Given the description of an element on the screen output the (x, y) to click on. 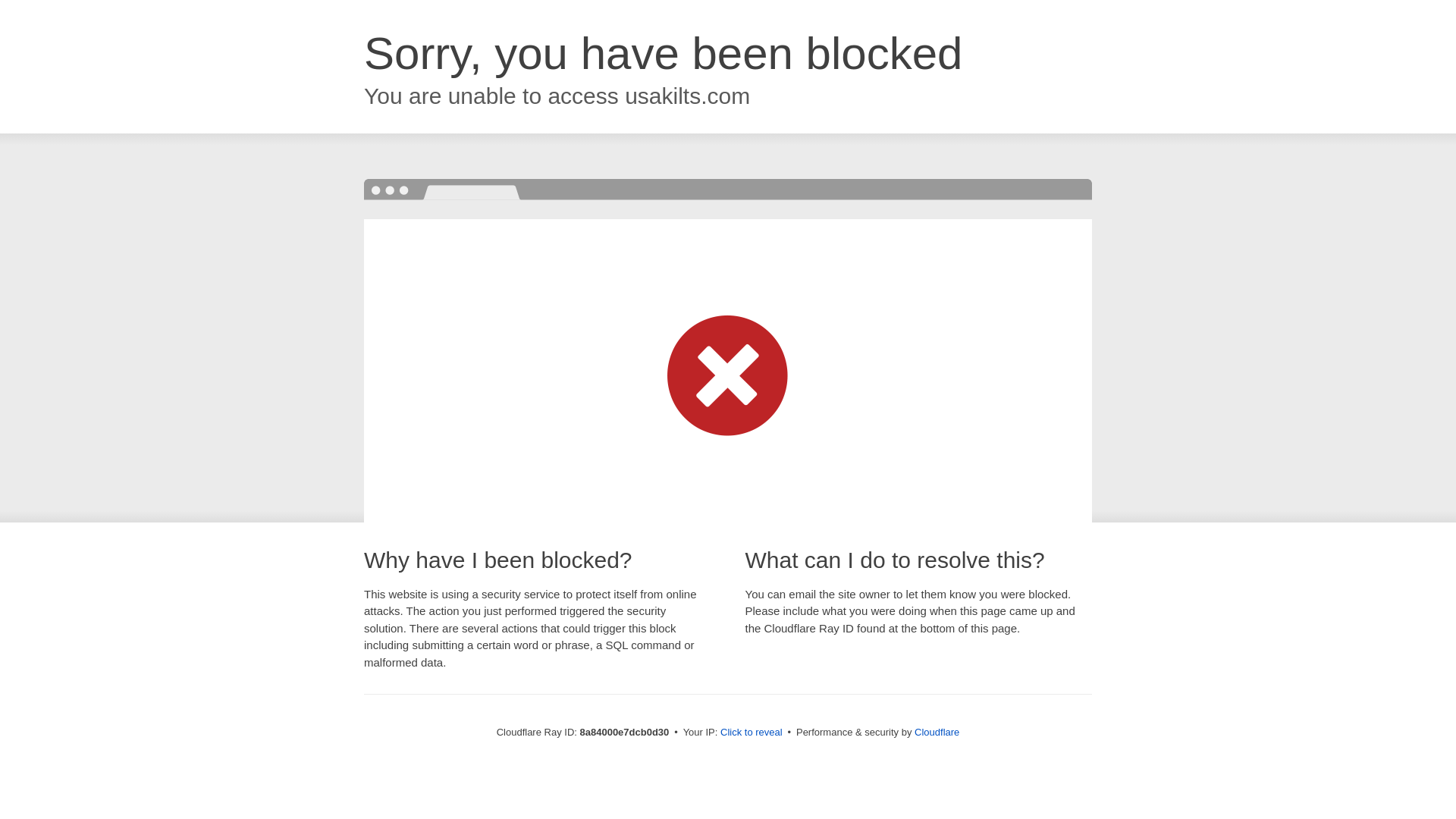
Click to reveal (751, 732)
Cloudflare (936, 731)
